Given the description of an element on the screen output the (x, y) to click on. 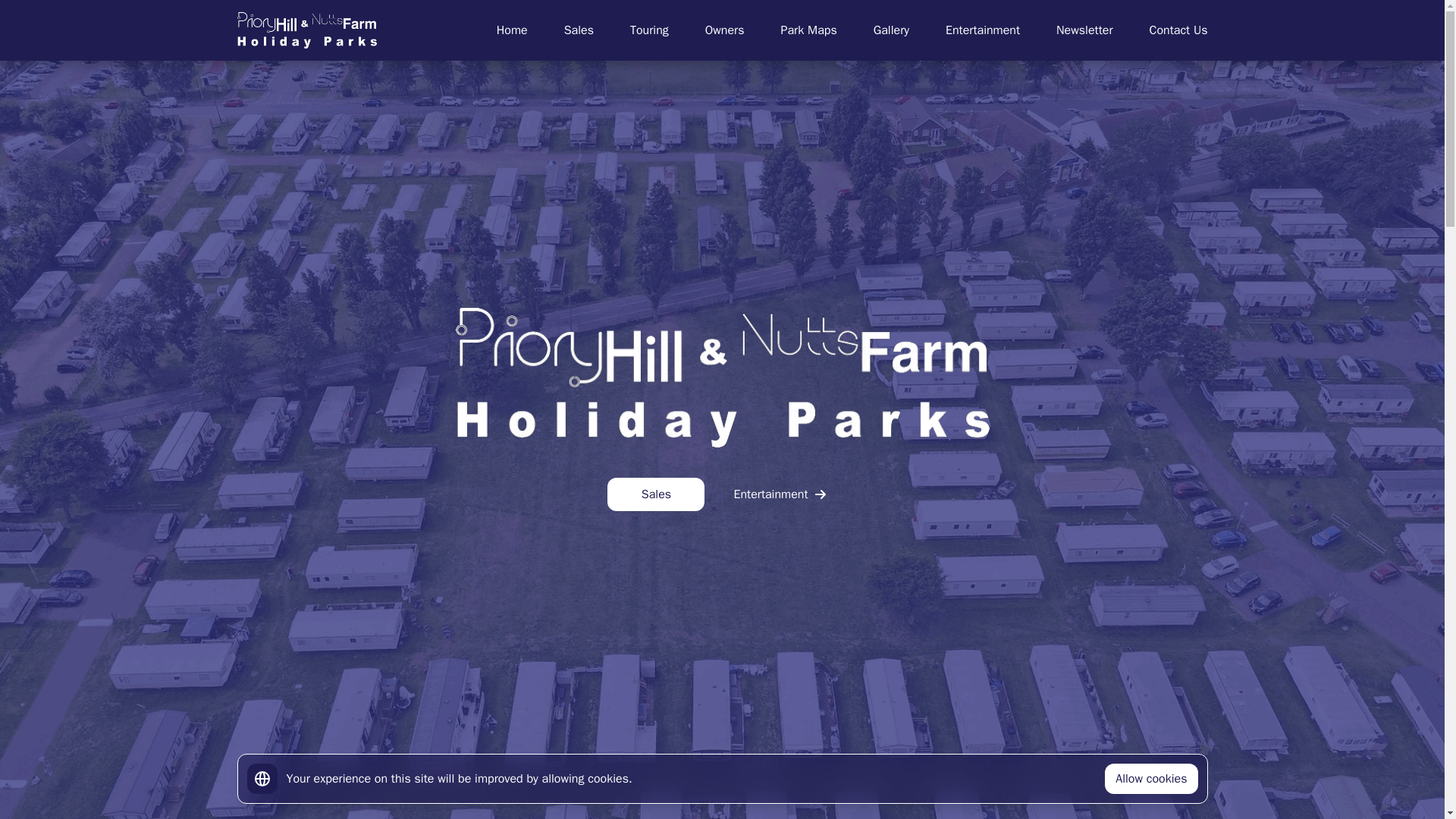
Touring (649, 30)
Home (511, 30)
Priory Hill (305, 30)
Entertainment (982, 30)
Gallery (890, 30)
Contact Us (1177, 30)
Entertainment (778, 494)
Owners (724, 30)
Park Maps (808, 30)
Sales (655, 494)
